Given the description of an element on the screen output the (x, y) to click on. 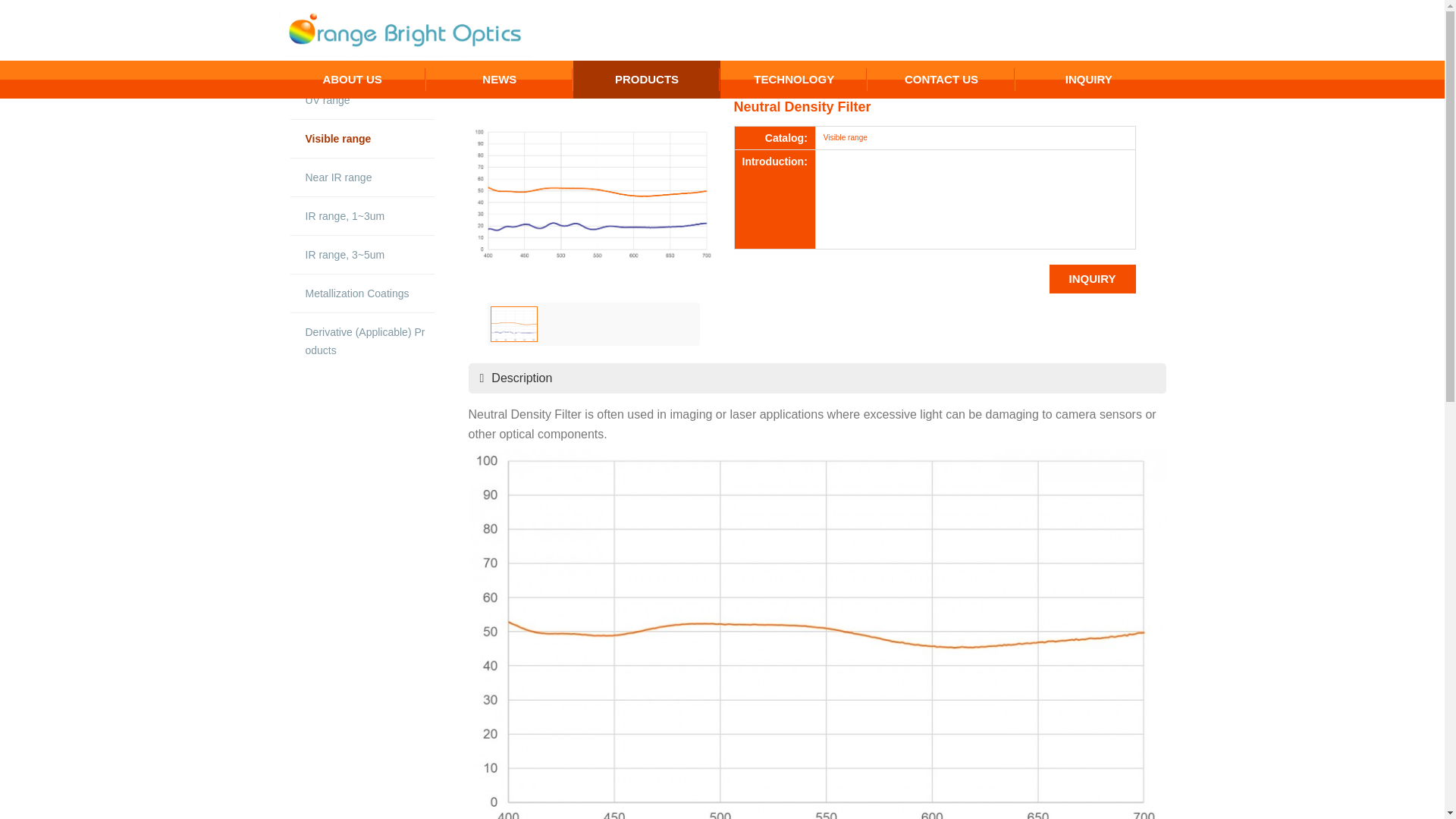
Visible range (793, 79)
Near IR range (646, 79)
PRODUCTS (361, 138)
HOME (940, 79)
Metallization Coatings (352, 79)
